Given the description of an element on the screen output the (x, y) to click on. 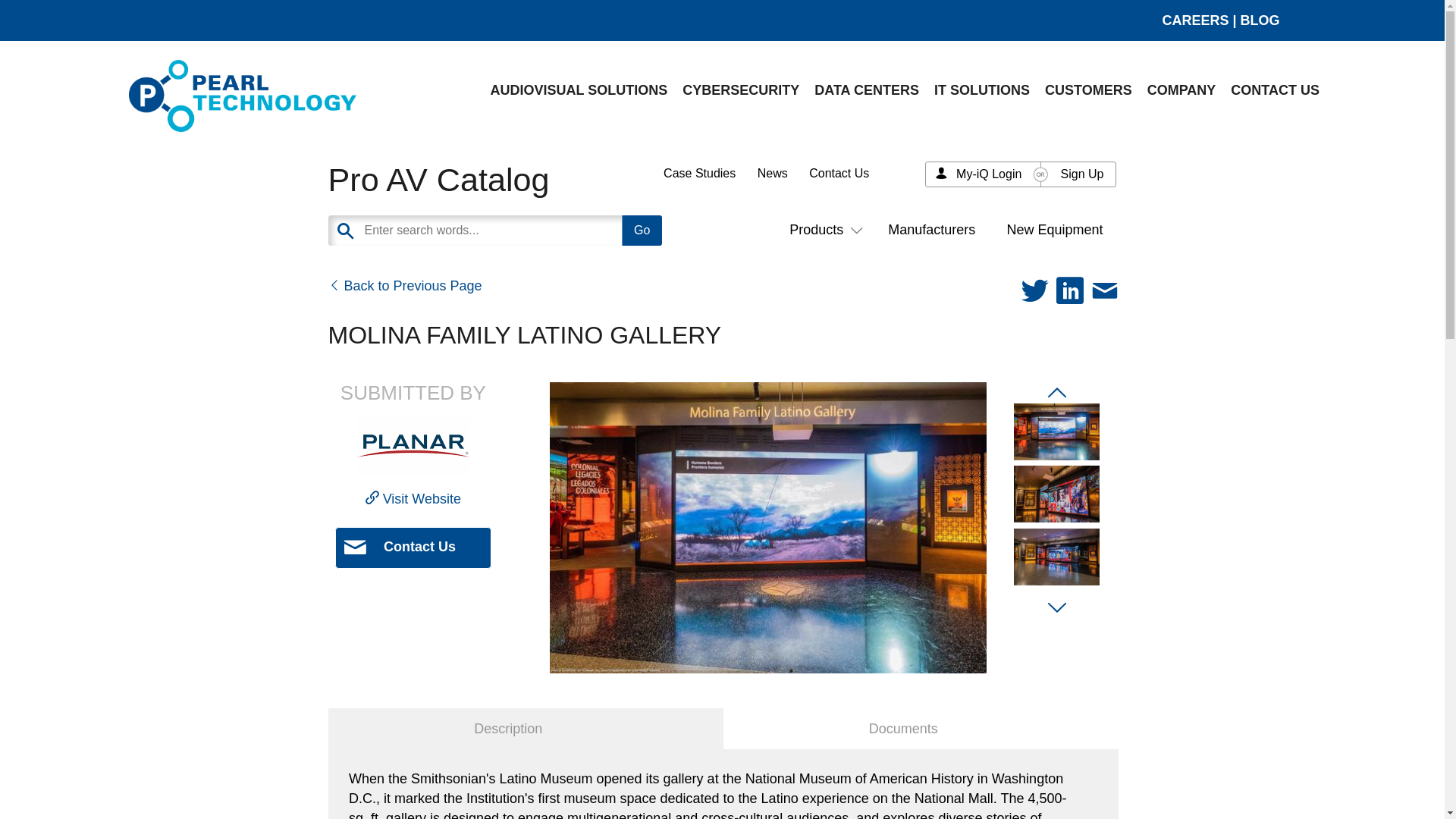
Image 3 of 3 (1056, 556)
AUDIOVISUAL SOLUTIONS (579, 90)
Enter search words... (531, 230)
CONTACT US (1274, 90)
COMPANY (1182, 90)
CUSTOMERS (1088, 90)
BLOG (1259, 20)
Go (641, 230)
CYBERSECURITY (740, 90)
IT SOLUTIONS (981, 90)
